Given the description of an element on the screen output the (x, y) to click on. 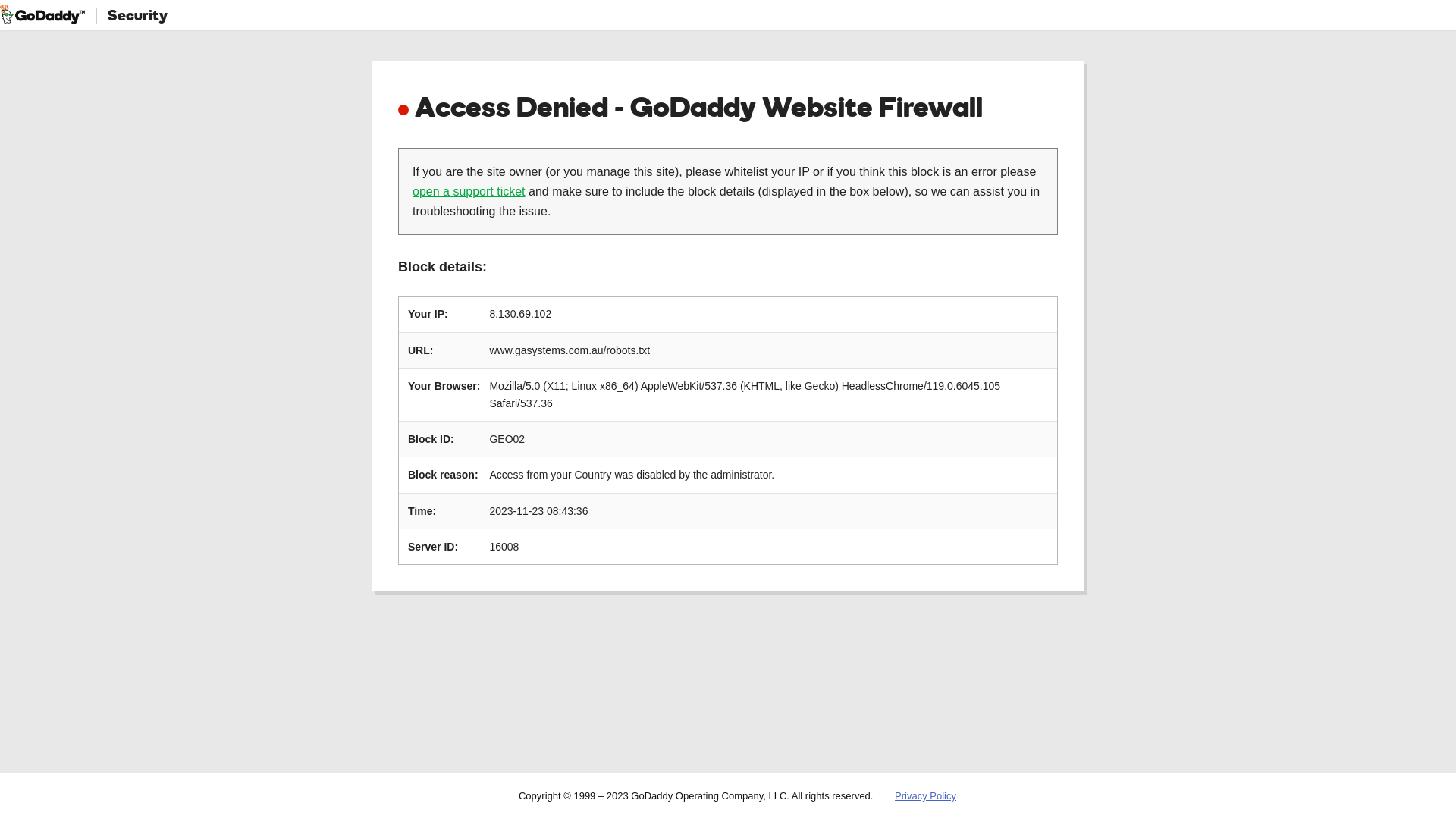
open a support ticket Element type: text (468, 191)
Privacy Policy Element type: text (925, 795)
